Given the description of an element on the screen output the (x, y) to click on. 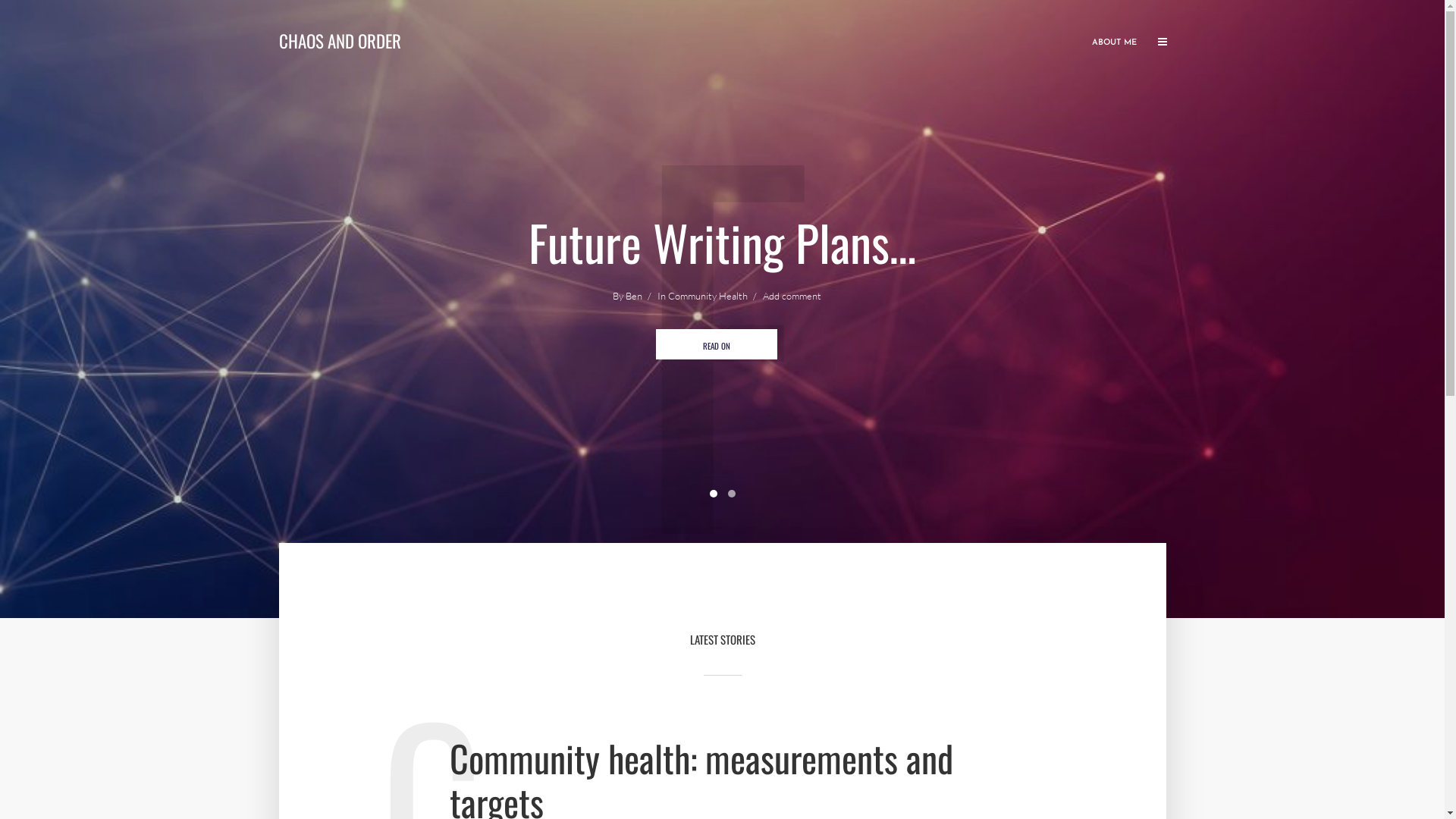
READ ON Element type: text (716, 344)
ABOUT ME Element type: text (1114, 41)
Add comment Element type: text (791, 296)
Ben Element type: text (632, 296)
Community Health Element type: text (706, 296)
CHAOS AND ORDER Element type: text (340, 40)
